Given the description of an element on the screen output the (x, y) to click on. 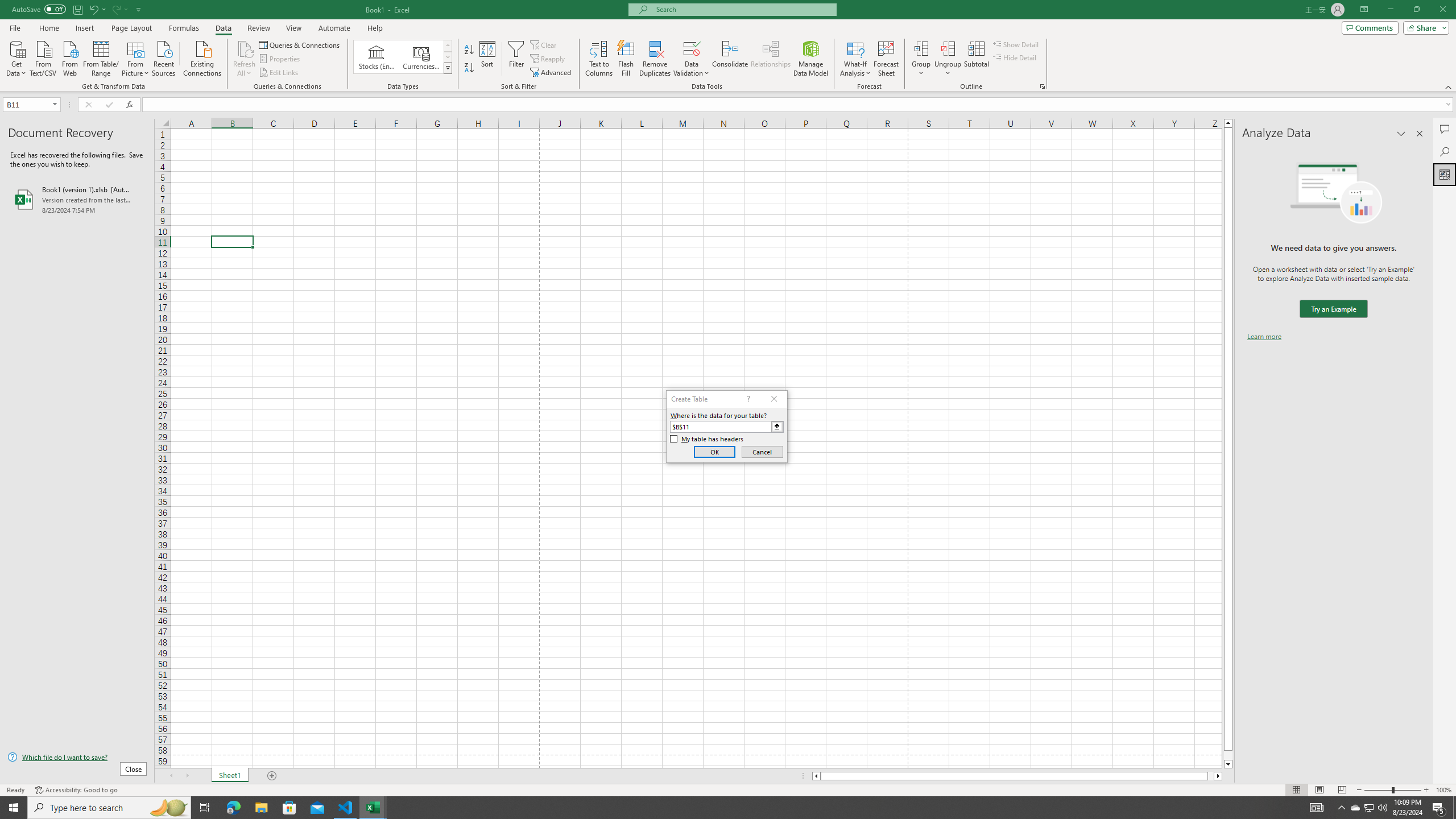
Hide Detail (1014, 56)
Add Sheet (272, 775)
Page down (1228, 755)
Task Pane Options (1400, 133)
Relationships (770, 58)
Comments (1444, 128)
Zoom (1392, 790)
Search (1444, 151)
File Tab (15, 27)
Flash Fill (625, 58)
Remove Duplicates (654, 58)
Class: NetUIImage (447, 68)
Home (48, 28)
Group... (921, 58)
Analyze Data (1444, 173)
